Given the description of an element on the screen output the (x, y) to click on. 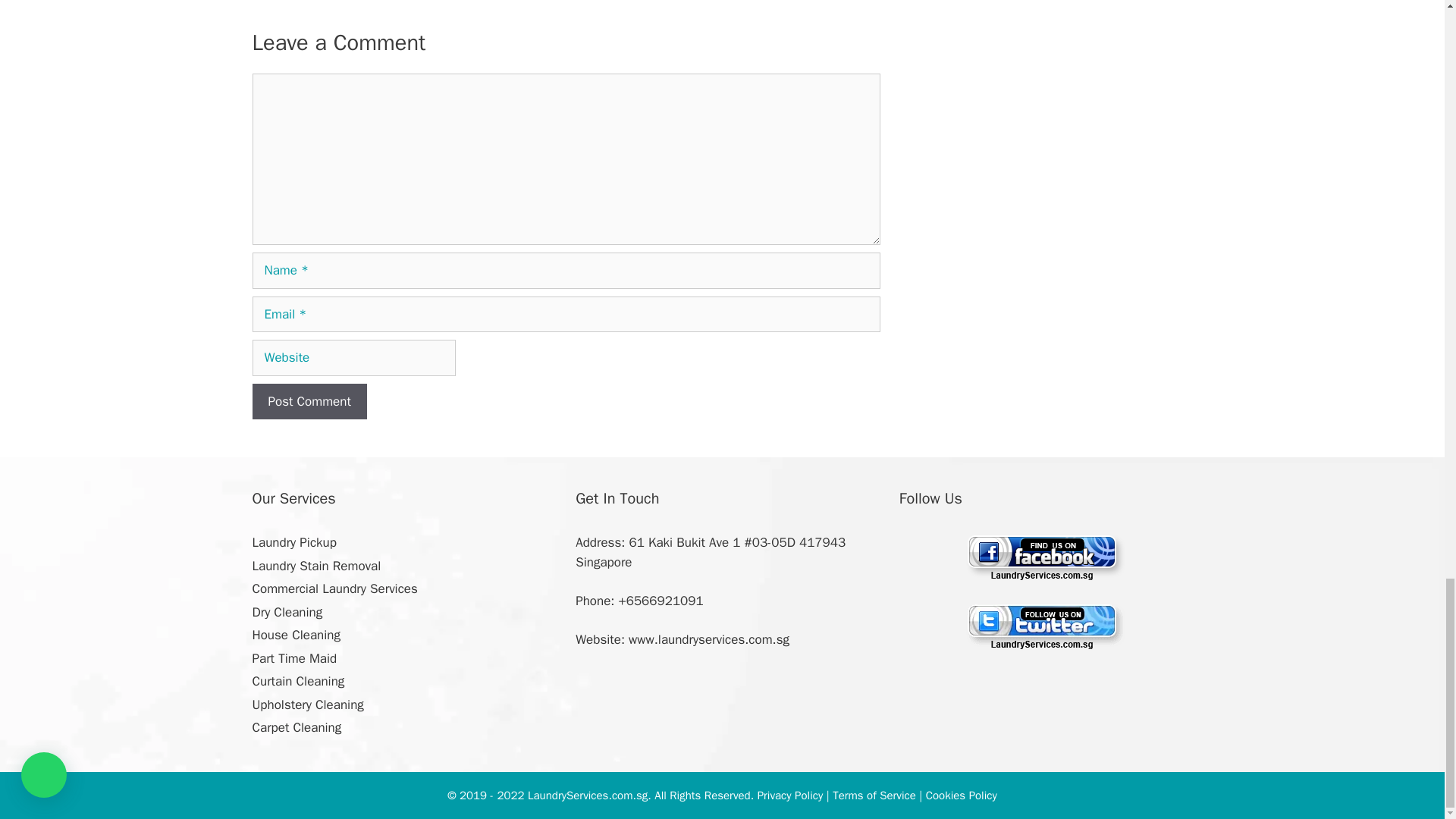
Laundry Pickup (293, 542)
Commercial Laundry Services (333, 588)
Dry Cleaning (286, 611)
Post Comment (308, 402)
Laundry Stain Removal (315, 565)
Curtain Cleaning (297, 681)
Part Time Maid (293, 658)
Post Comment (308, 402)
Upholstery Cleaning (306, 704)
House Cleaning (295, 634)
Carpet Cleaning (295, 727)
